Given the description of an element on the screen output the (x, y) to click on. 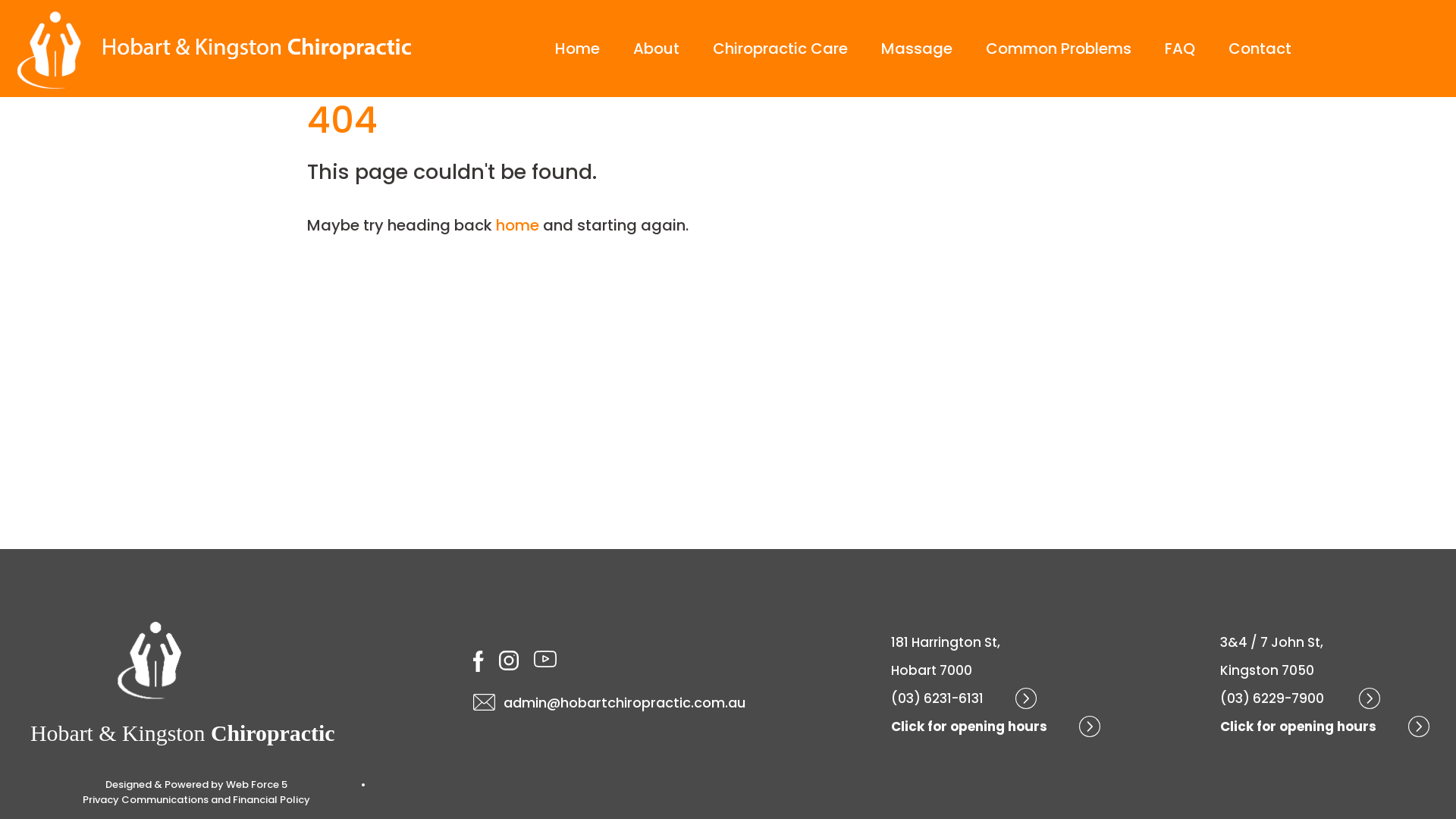
Designed & Powered by Web Force 5 Element type: text (196, 784)
About Element type: text (656, 48)
Click for opening hours Element type: text (1324, 726)
home Element type: text (517, 224)
Chiropractic Care Element type: text (779, 48)
Click for opening hours Element type: text (995, 726)
Massage Element type: text (916, 48)
Common Problems Element type: text (1058, 48)
(03) 6229-7900  Element type: text (1300, 698)
Home Element type: text (577, 48)
FAQ Element type: text (1179, 48)
Contact Element type: text (1259, 48)
(03) 6231-6131 Element type: text (963, 698)
admin@hobartchiropractic.com.au Element type: text (609, 702)
Privacy Communications and Financial Policy Element type: text (196, 799)
